Given the description of an element on the screen output the (x, y) to click on. 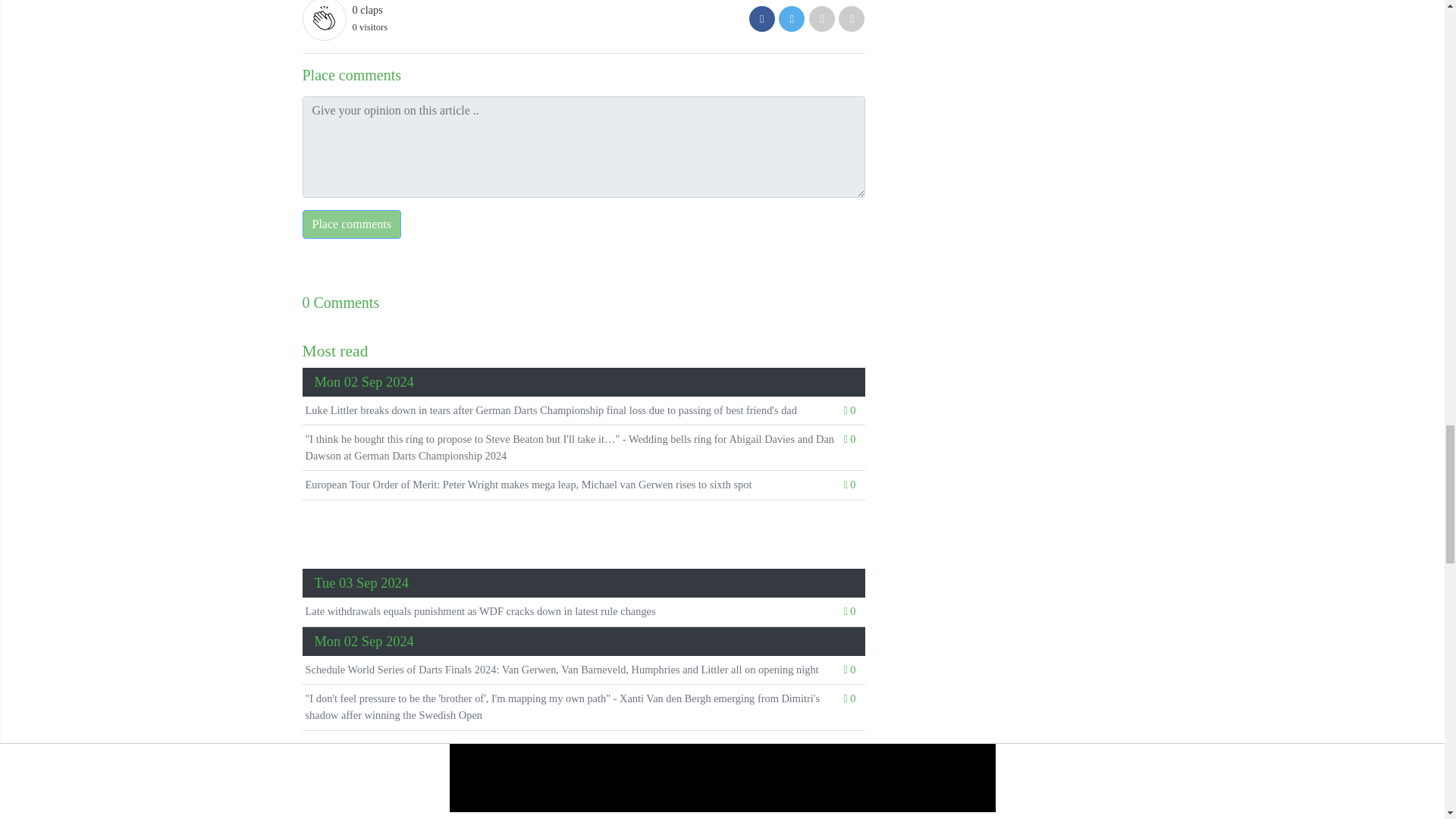
Place comments (350, 224)
Share via Mail (821, 18)
Share on Twitter (791, 18)
Share on Facebook (761, 18)
Share via link (851, 18)
